Given the description of an element on the screen output the (x, y) to click on. 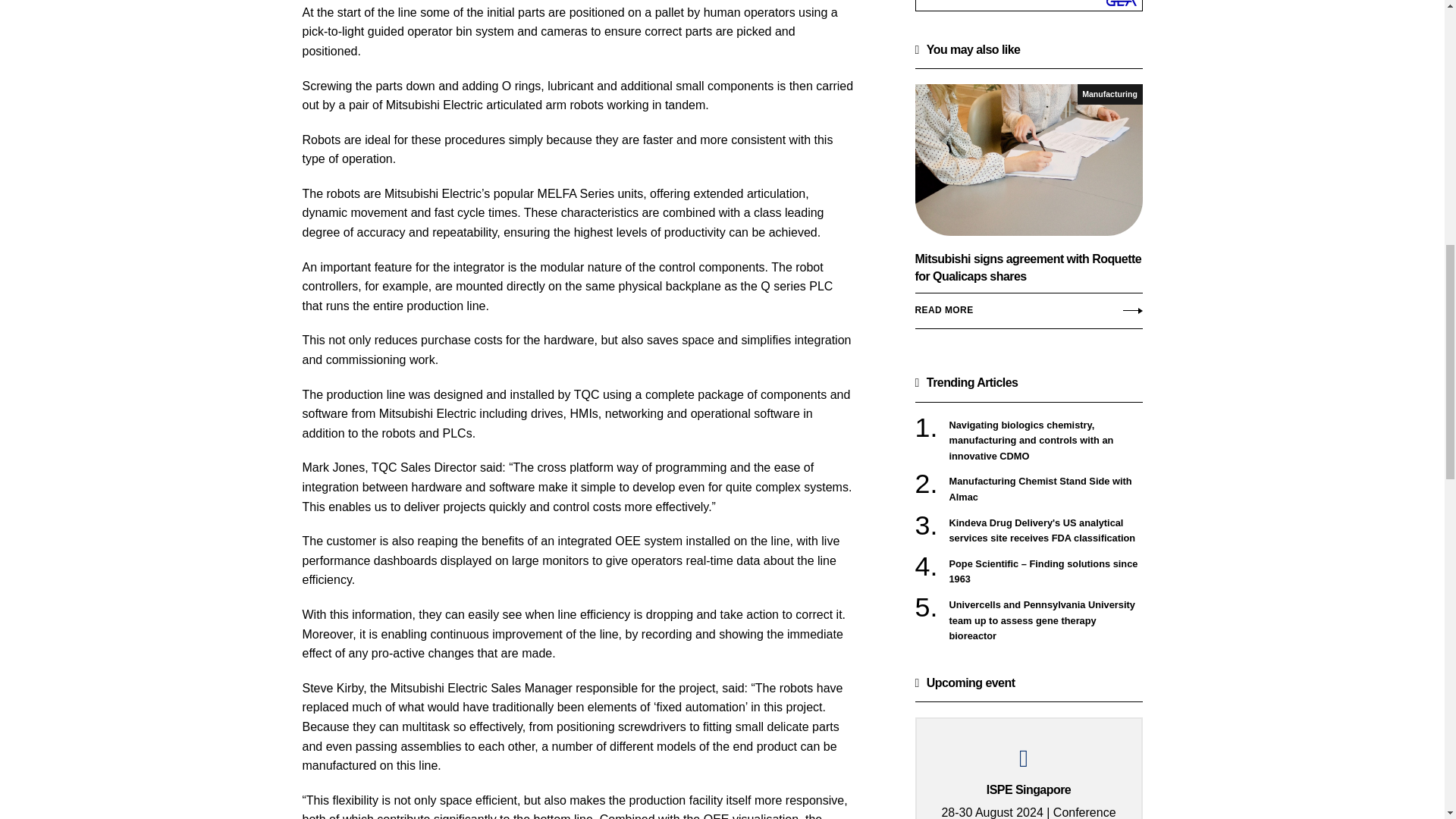
Manufacturing Chemist Stand Side with Almac (1045, 489)
Manufacturing (1109, 94)
